Given the description of an element on the screen output the (x, y) to click on. 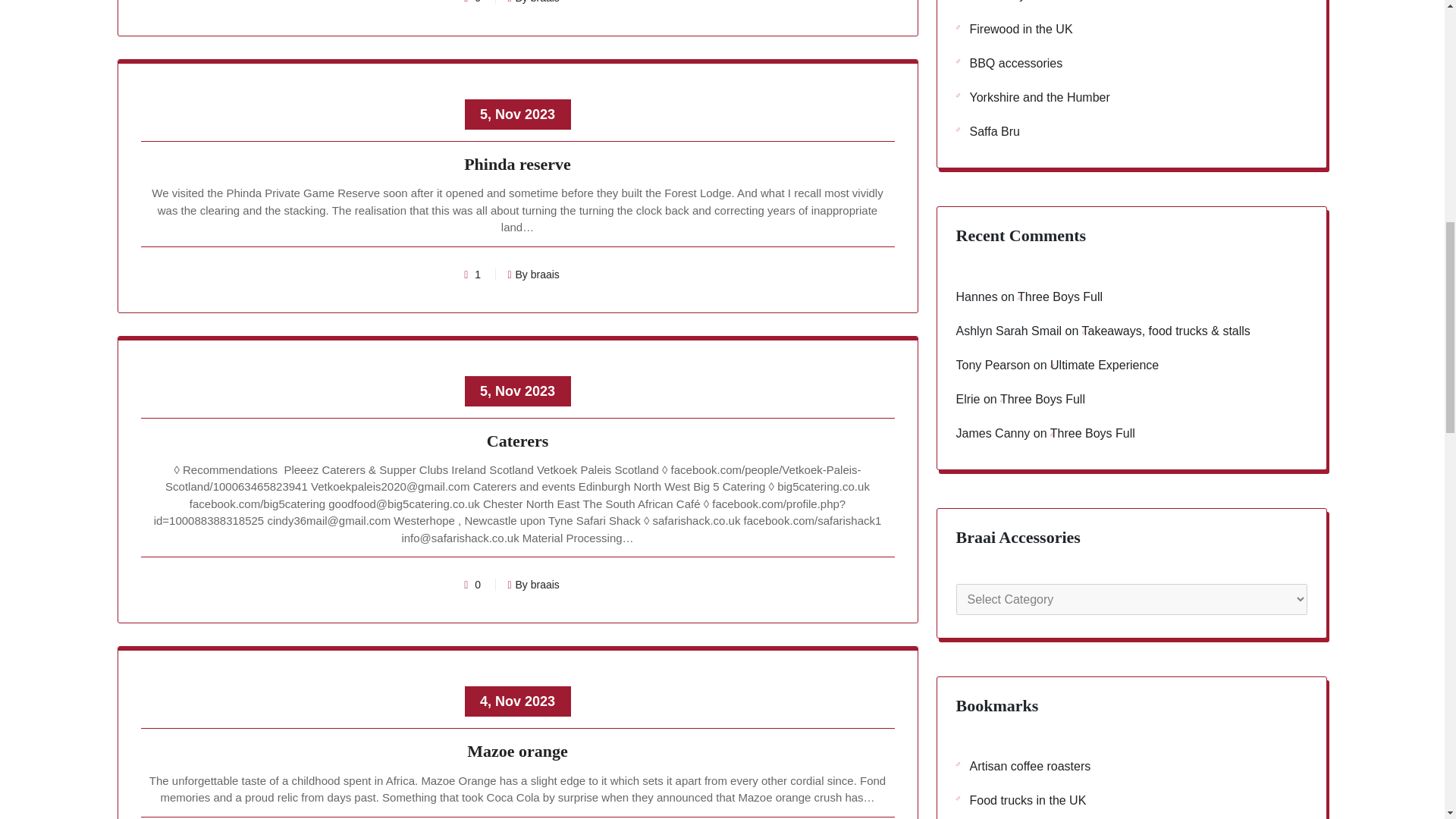
By braais (532, 584)
Phinda reserve (518, 166)
Caterers (518, 443)
0 (478, 2)
1 (478, 274)
By braais (532, 2)
Mazoe orange (518, 754)
By braais (532, 274)
0 (478, 584)
